Given the description of an element on the screen output the (x, y) to click on. 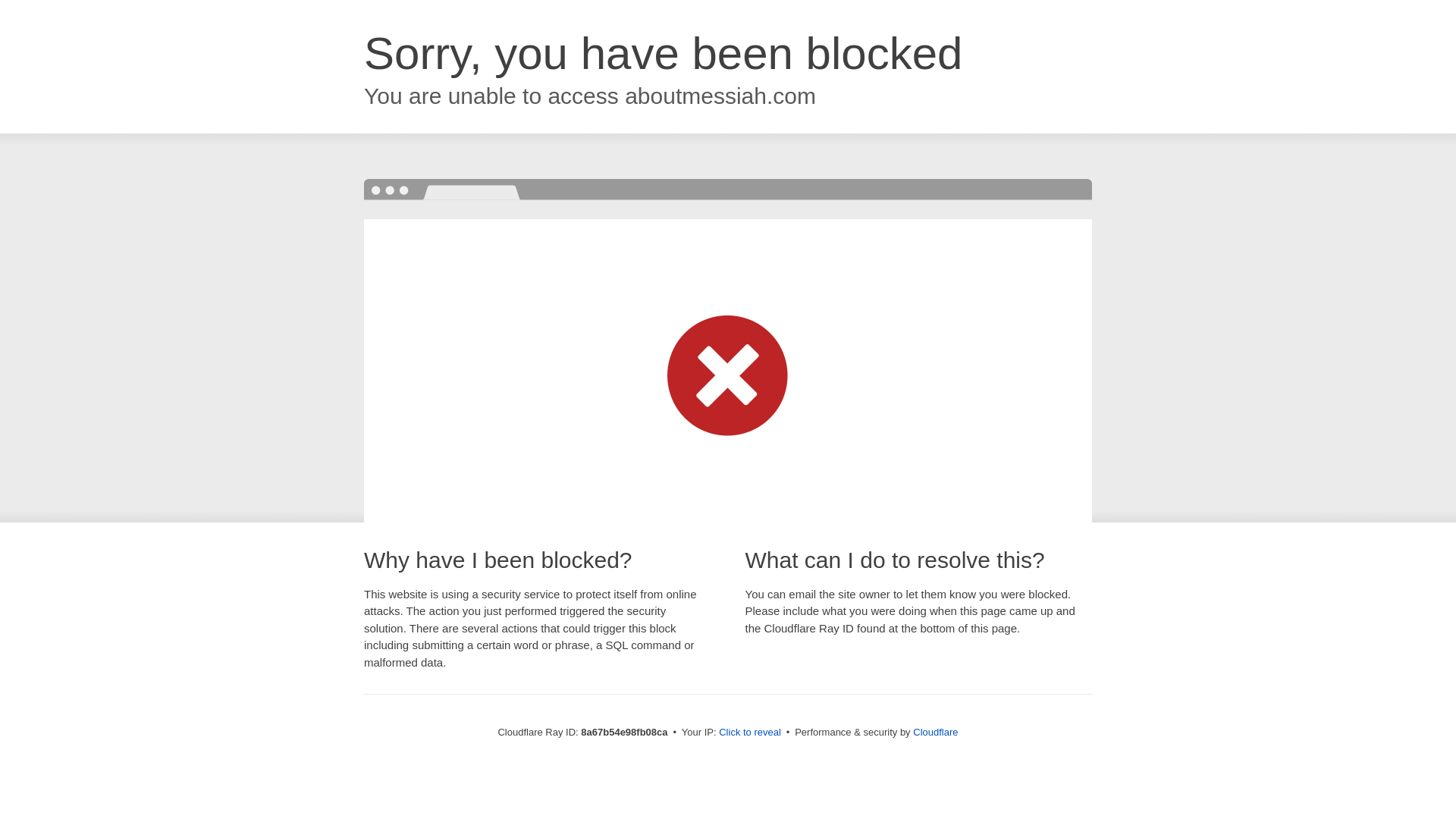
Click to reveal (749, 732)
Cloudflare (935, 731)
